Given the description of an element on the screen output the (x, y) to click on. 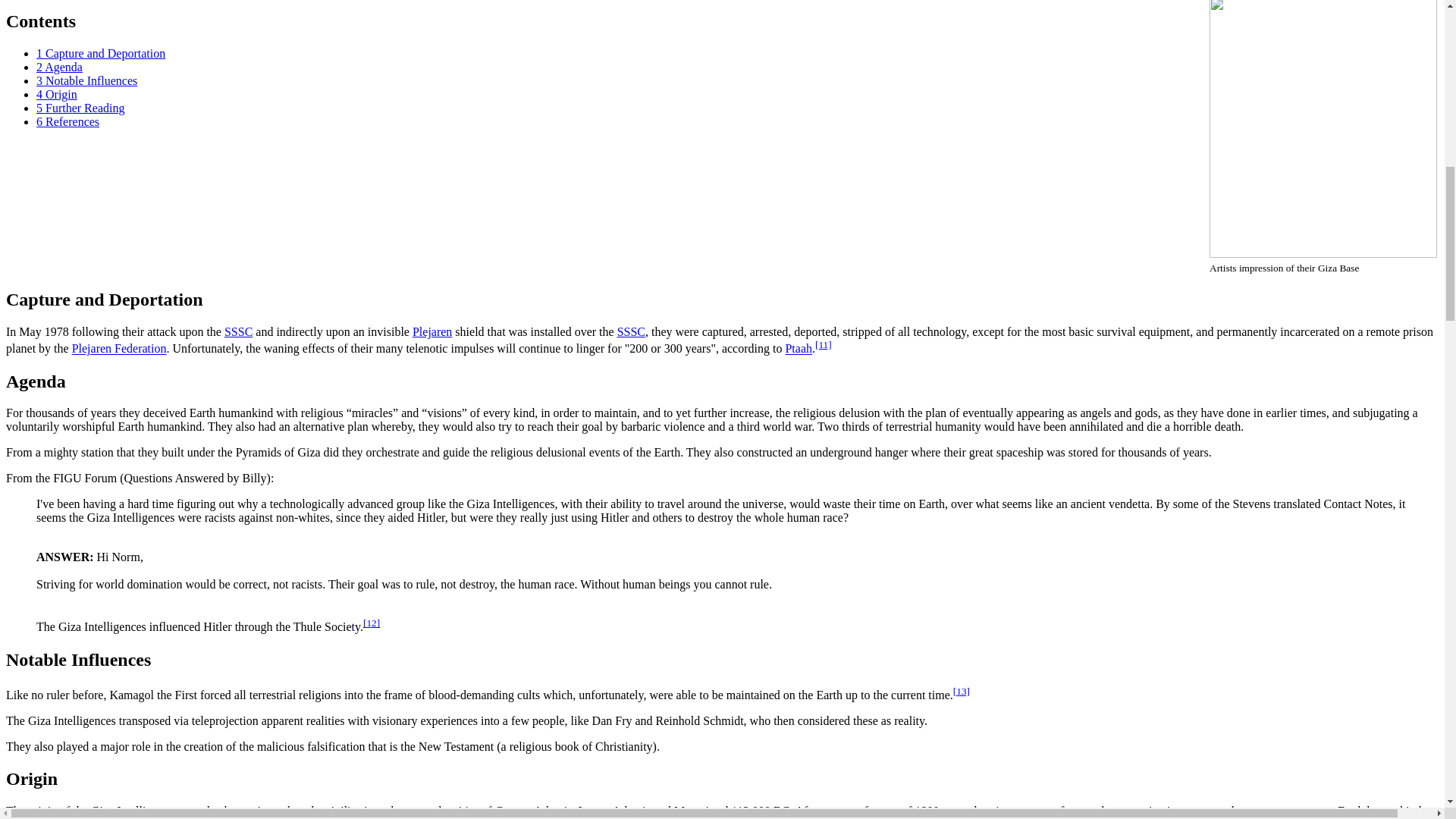
2 Agenda (59, 66)
3 Notable Influences (86, 80)
1 Capture and Deportation (100, 52)
